Given the description of an element on the screen output the (x, y) to click on. 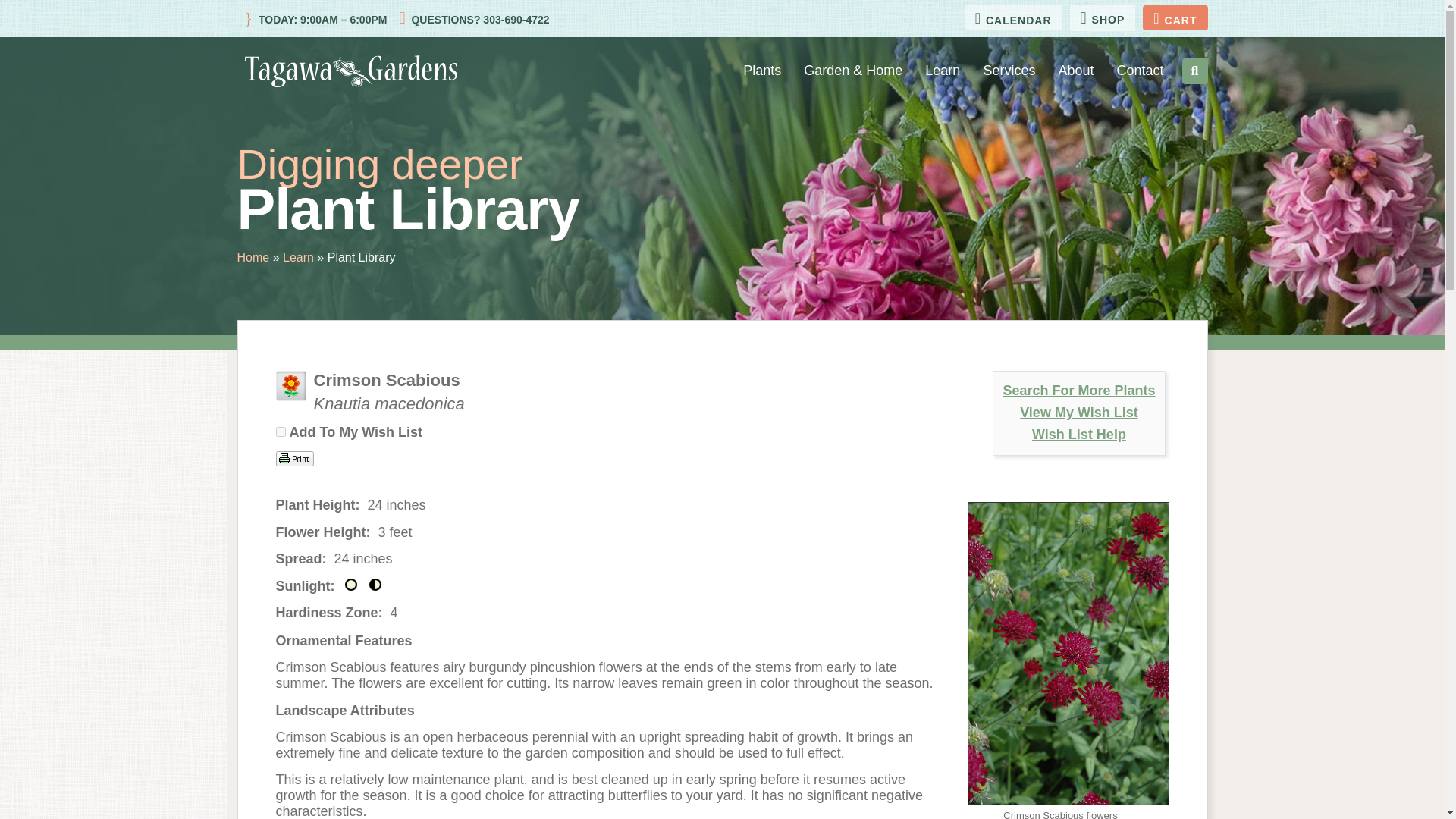
full sun (350, 584)
Learn (941, 70)
perennial (290, 386)
True (280, 431)
Services (1008, 70)
CALENDAR (1012, 17)
print page (295, 458)
CART (1174, 17)
partial shade (375, 584)
Plants (761, 70)
SHOP (1102, 17)
303-690-4722 (514, 19)
